Given the description of an element on the screen output the (x, y) to click on. 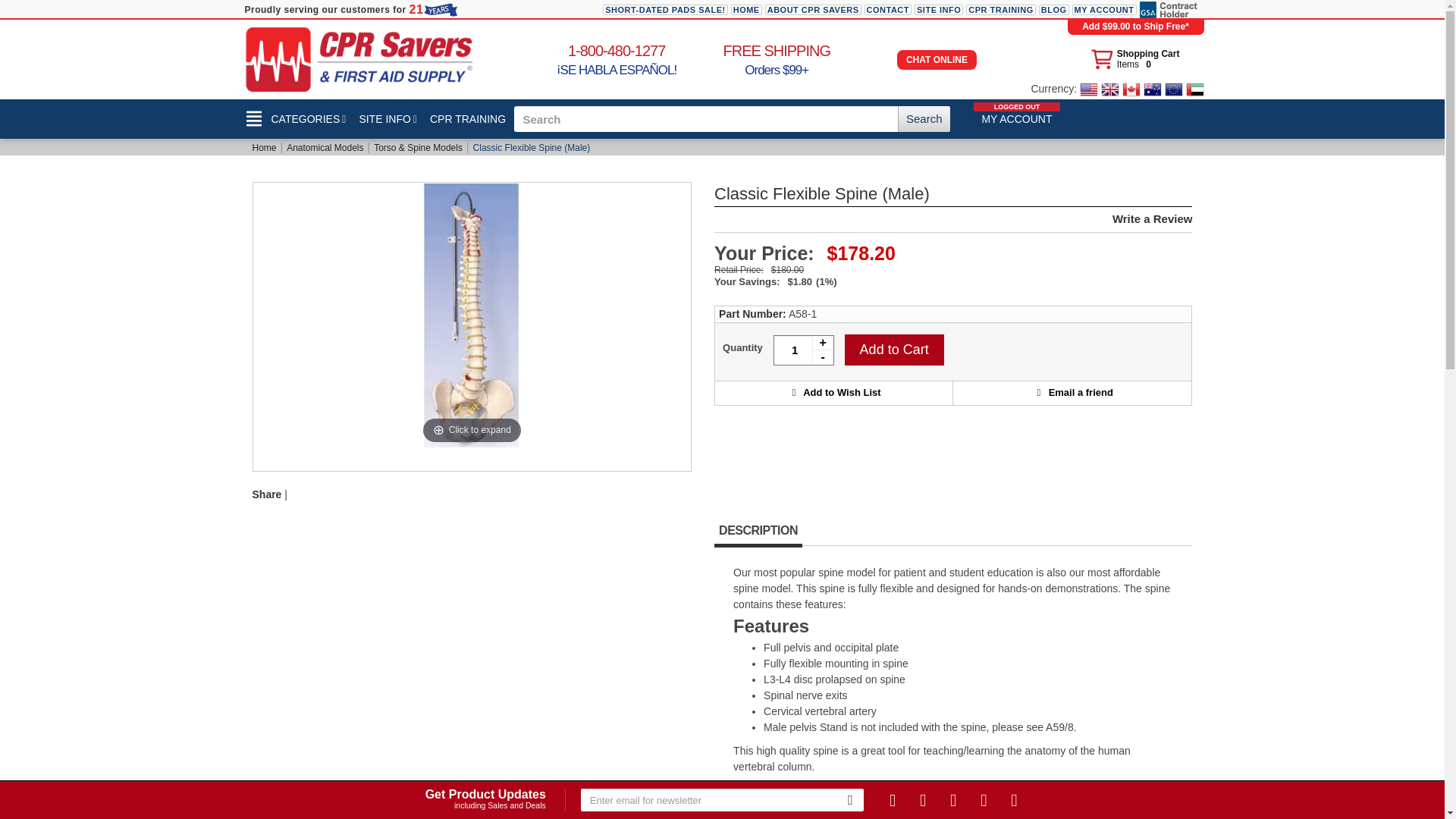
View prices in Pounds (1109, 89)
CHAT ONLINE (936, 59)
Search Button (924, 118)
HOME (745, 9)
SHORT-DATED PADS SALE! (665, 9)
Site Info (386, 118)
View prices in Canadian Dollars (1131, 89)
View prices in Australian Dollars (1151, 89)
View prices in US Dollars (1134, 61)
CATEGORIES (1088, 89)
CONTACT (296, 118)
ABOUT CPR SAVERS (887, 9)
View prices in UAE Dirham (813, 9)
